Given the description of an element on the screen output the (x, y) to click on. 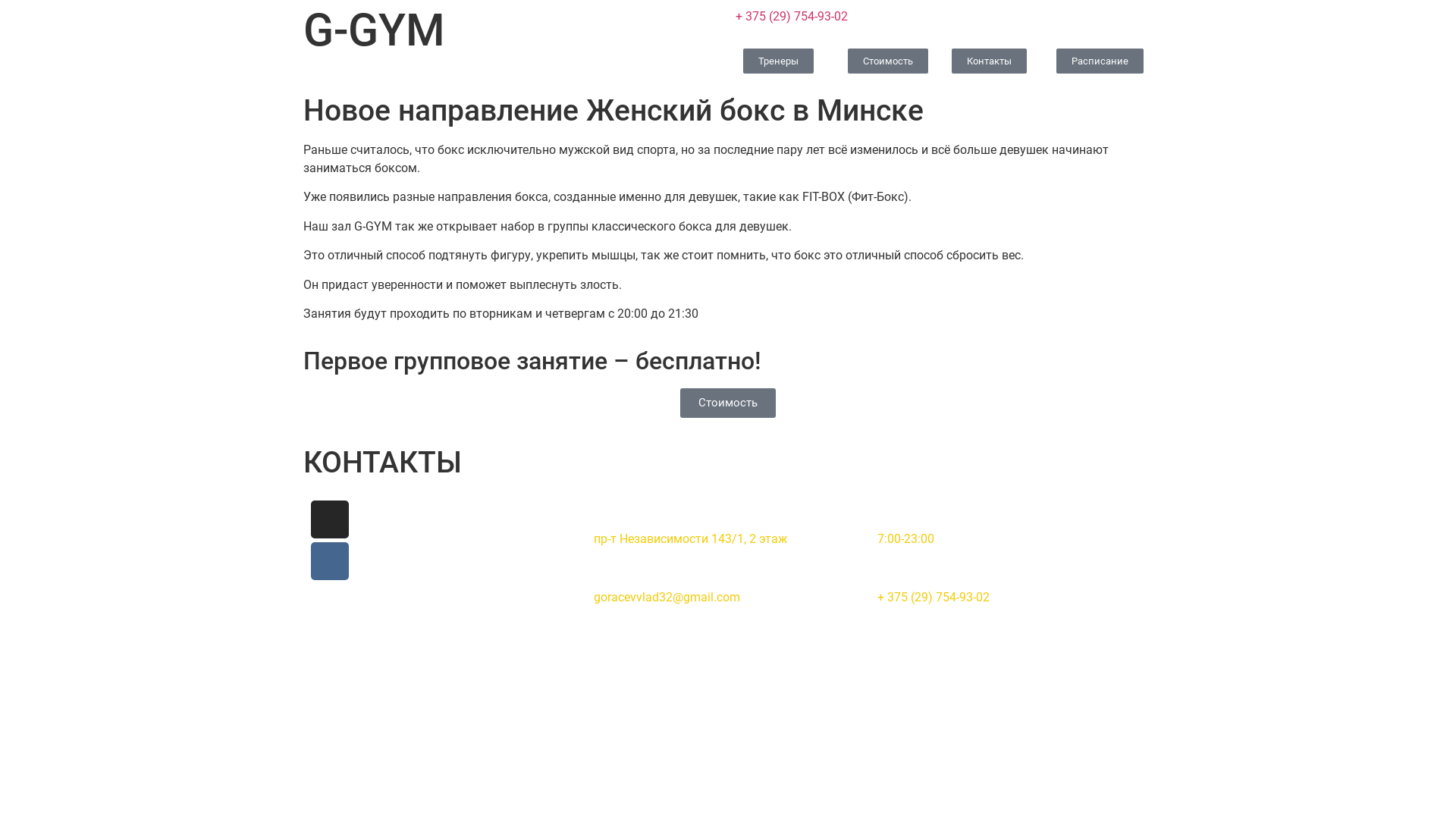
G-GYM Element type: text (374, 29)
+ 375 (29) 754-93-02 Element type: text (791, 16)
